Given the description of an element on the screen output the (x, y) to click on. 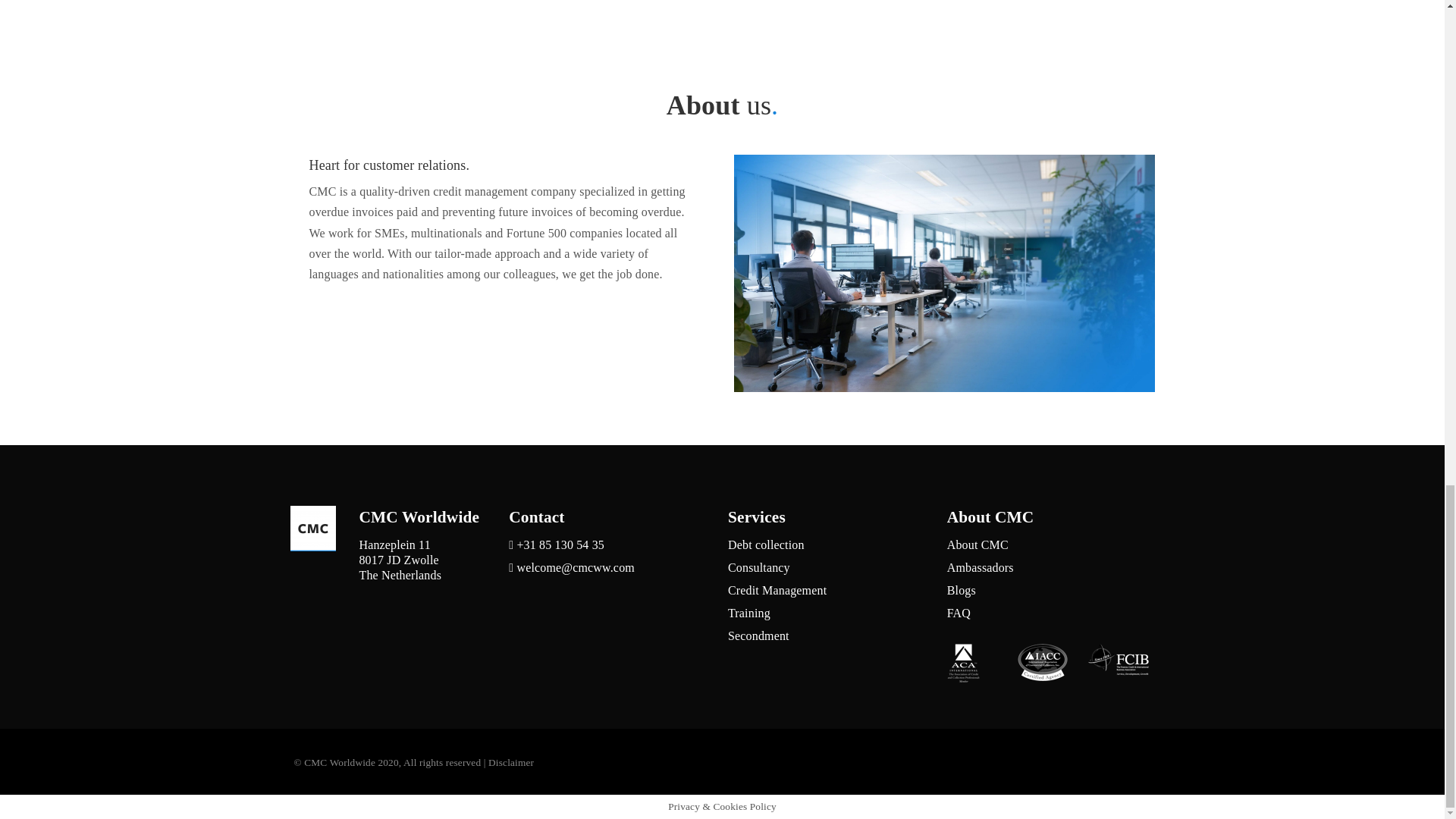
Debt collection (766, 544)
Disclaimer (510, 762)
Consultancy (759, 567)
FAQ (959, 612)
logo RGB white-01 (311, 528)
DSC01633 (943, 272)
About CMC (978, 544)
Blogs (961, 590)
IACC-logo (1042, 662)
Training (749, 612)
